Given the description of an element on the screen output the (x, y) to click on. 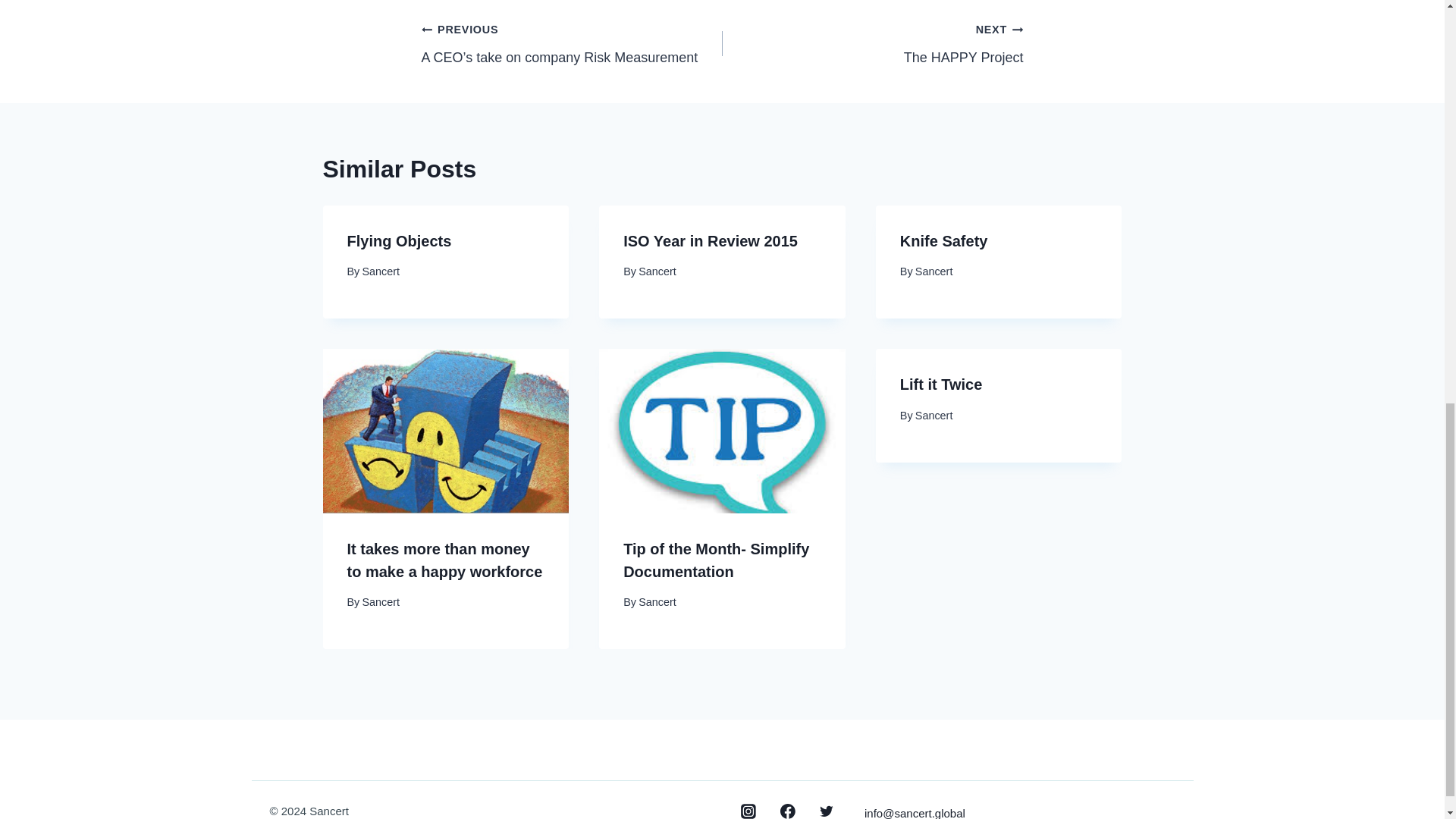
Sancert (379, 271)
ISO Year in Review 2015 (872, 43)
Flying Objects (710, 240)
